Given the description of an element on the screen output the (x, y) to click on. 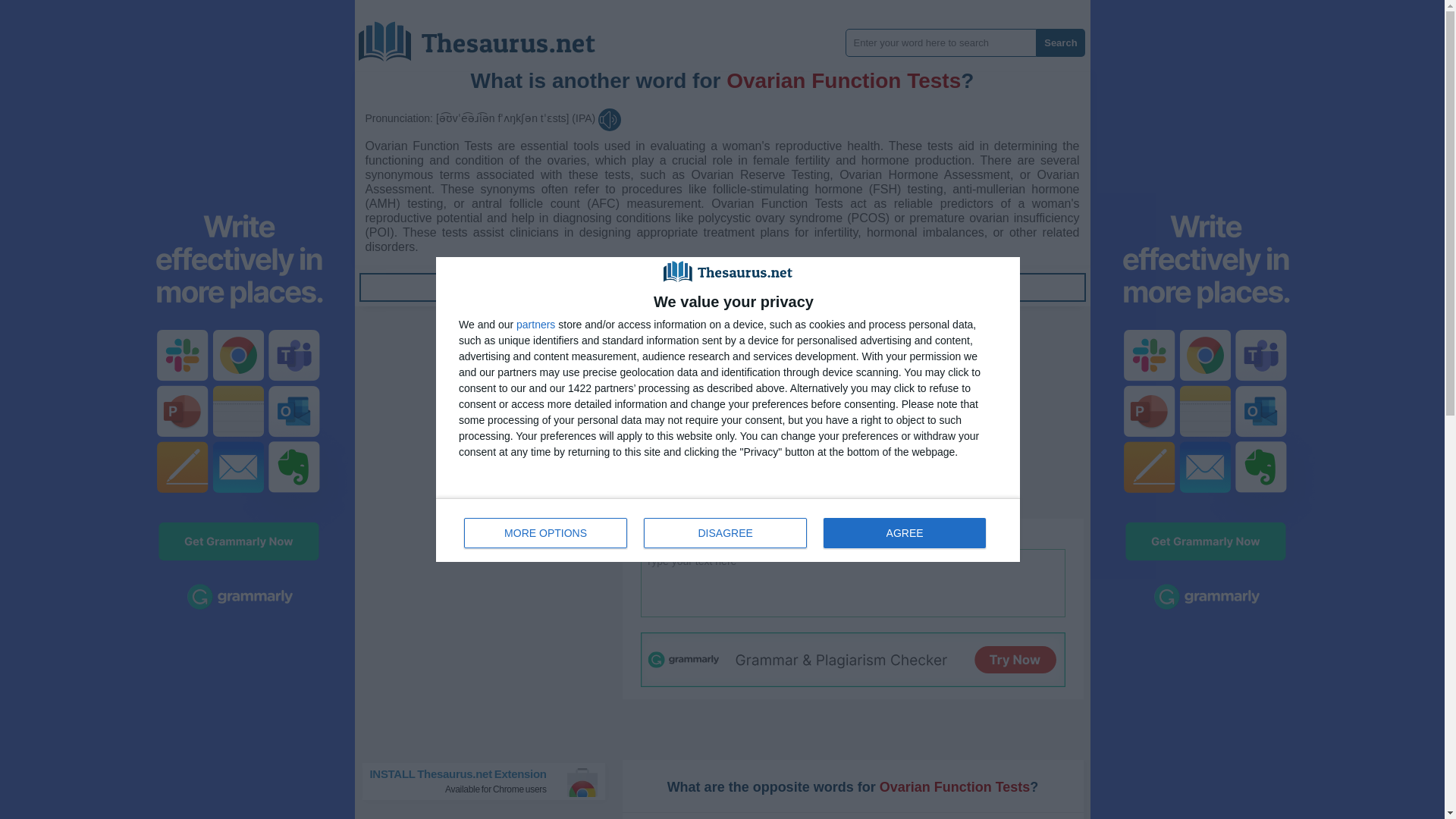
Search (489, 781)
click here (1060, 42)
DISAGREE (875, 533)
Thesaurus.net (724, 532)
Opposite words (487, 35)
Antonyms (539, 287)
AGREE (727, 529)
partners (902, 287)
Opposite words (904, 532)
Antonyms (535, 324)
MORE OPTIONS (539, 287)
